Given the description of an element on the screen output the (x, y) to click on. 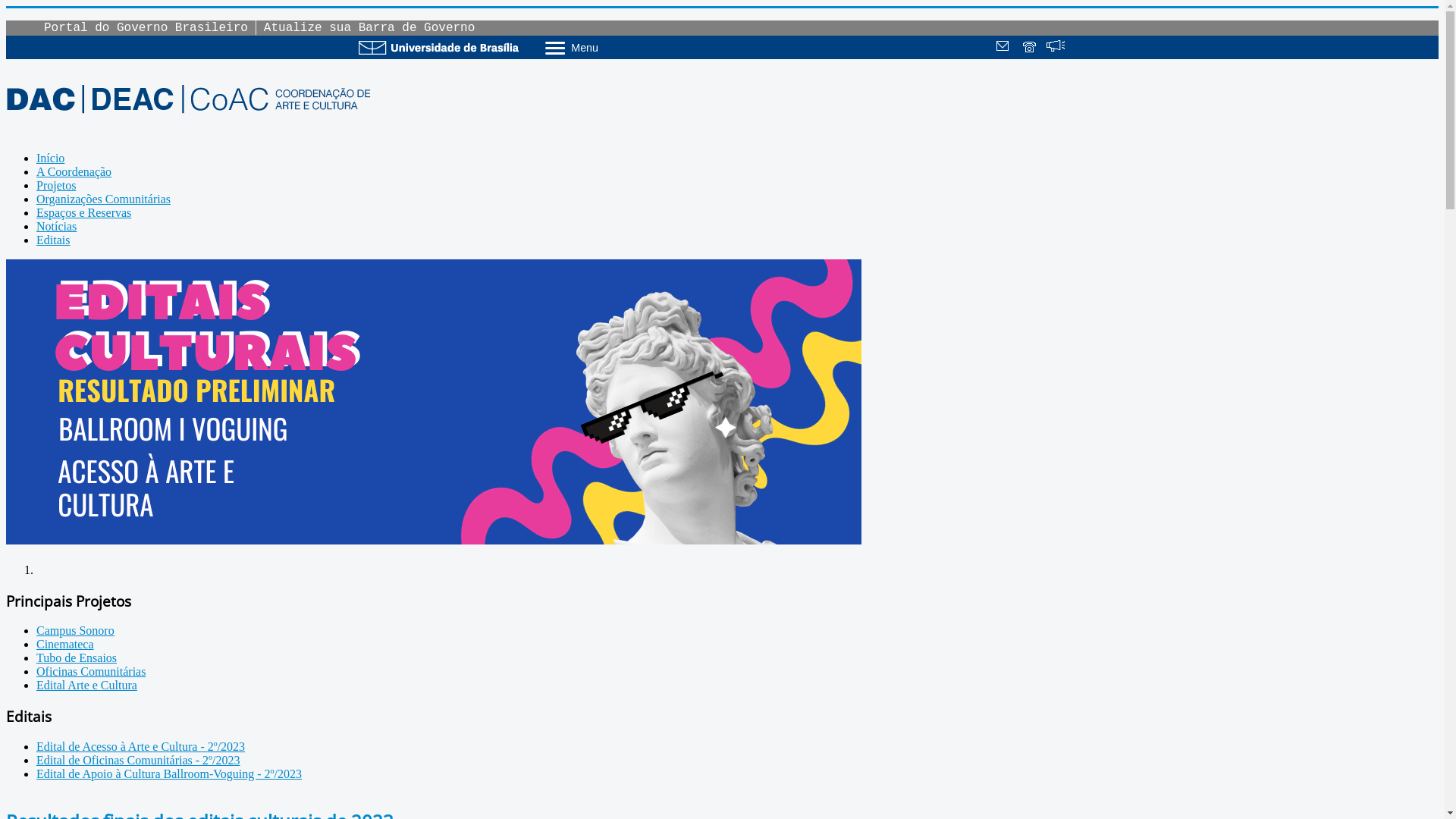
Ir para o Portal da UnB Element type: hover (438, 46)
Edital Arte e Cultura Element type: text (86, 684)
Tubo de Ensaios Element type: text (76, 657)
Fala.BR Element type: hover (1055, 47)
  Element type: text (1081, 47)
Webmail Element type: hover (1004, 47)
Menu Element type: text (610, 46)
Cinemateca Element type: text (65, 643)
  Element type: text (1055, 47)
Campus Sonoro Element type: text (75, 630)
  Element type: hover (433, 539)
Sistemas Element type: hover (1081, 47)
Editais Element type: text (52, 239)
Telefones da UnB Element type: hover (1030, 47)
Projetos Element type: text (55, 184)
  Element type: text (1030, 47)
Atualize sua Barra de Governo Element type: text (368, 27)
  Element type: text (1004, 47)
Portal do Governo Brasileiro Element type: text (145, 27)
